Given the description of an element on the screen output the (x, y) to click on. 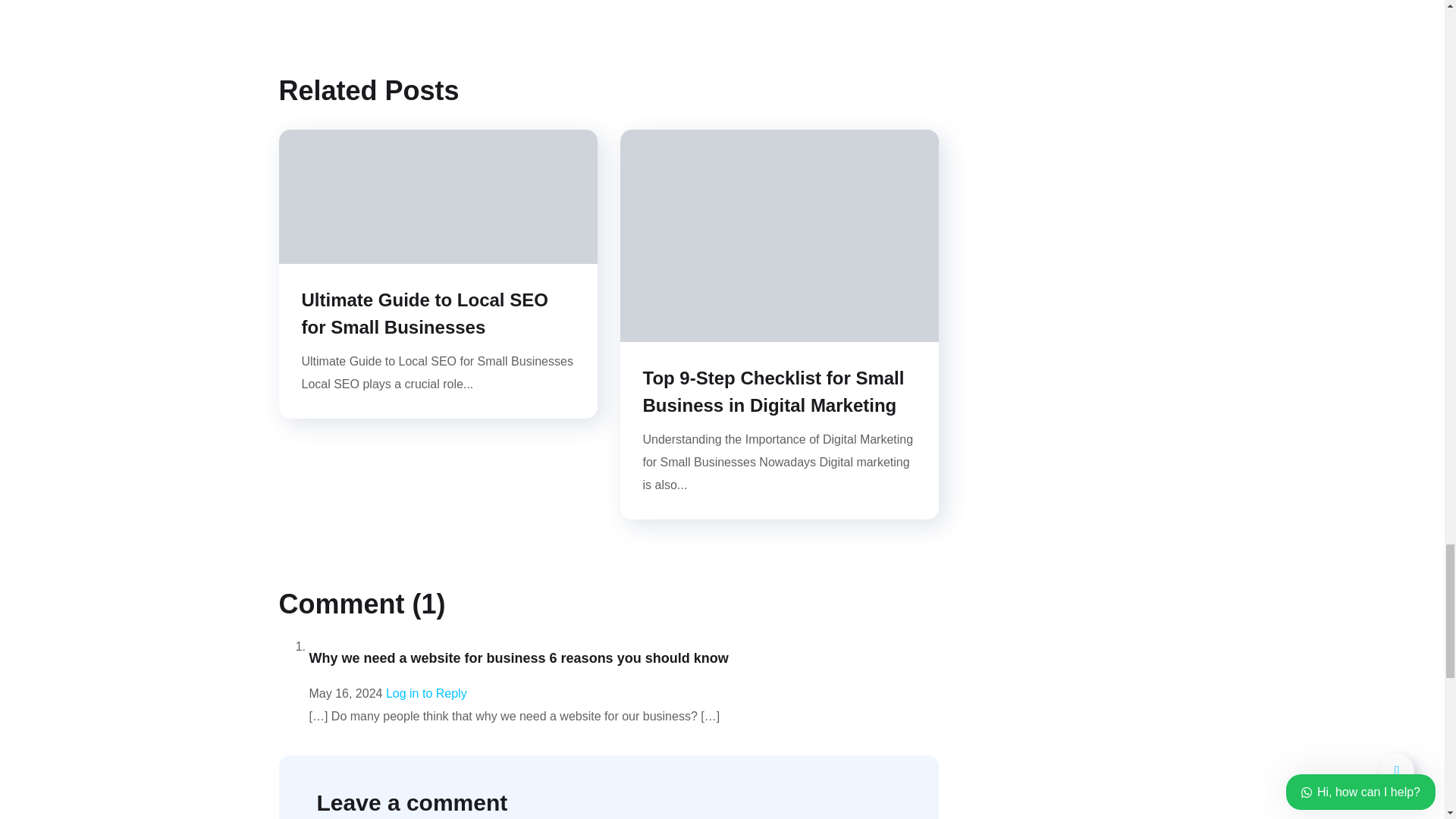
Ultimate Guide to Local SEO for Small Businesses 9 (437, 195)
